Given the description of an element on the screen output the (x, y) to click on. 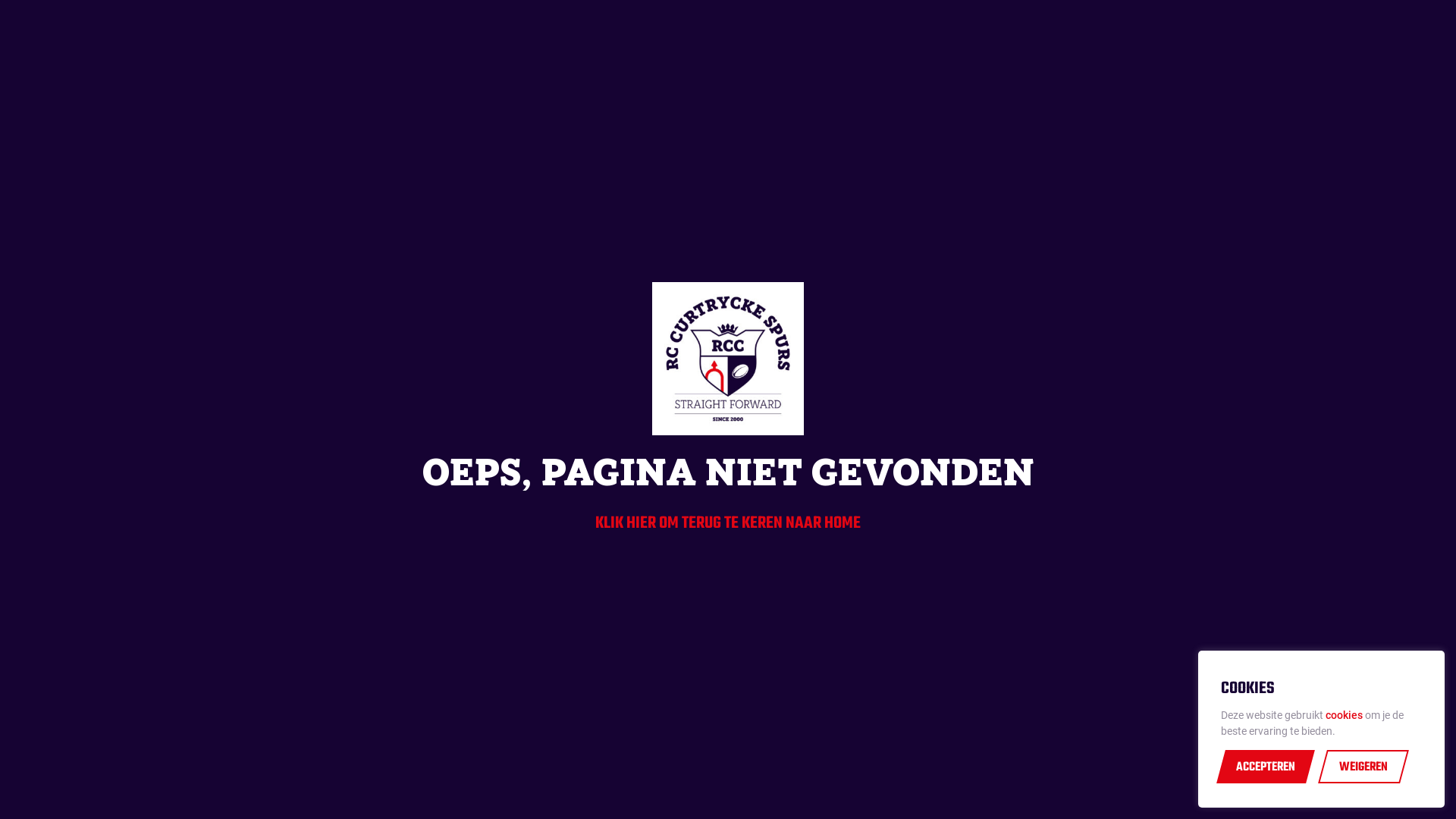
KLIK HIER OM TERUG TE KEREN NAAR HOME Element type: text (727, 523)
ACCEPTEREN Element type: text (1265, 767)
cookies Element type: text (1343, 715)
WEIGEREN Element type: text (1363, 767)
